Given the description of an element on the screen output the (x, y) to click on. 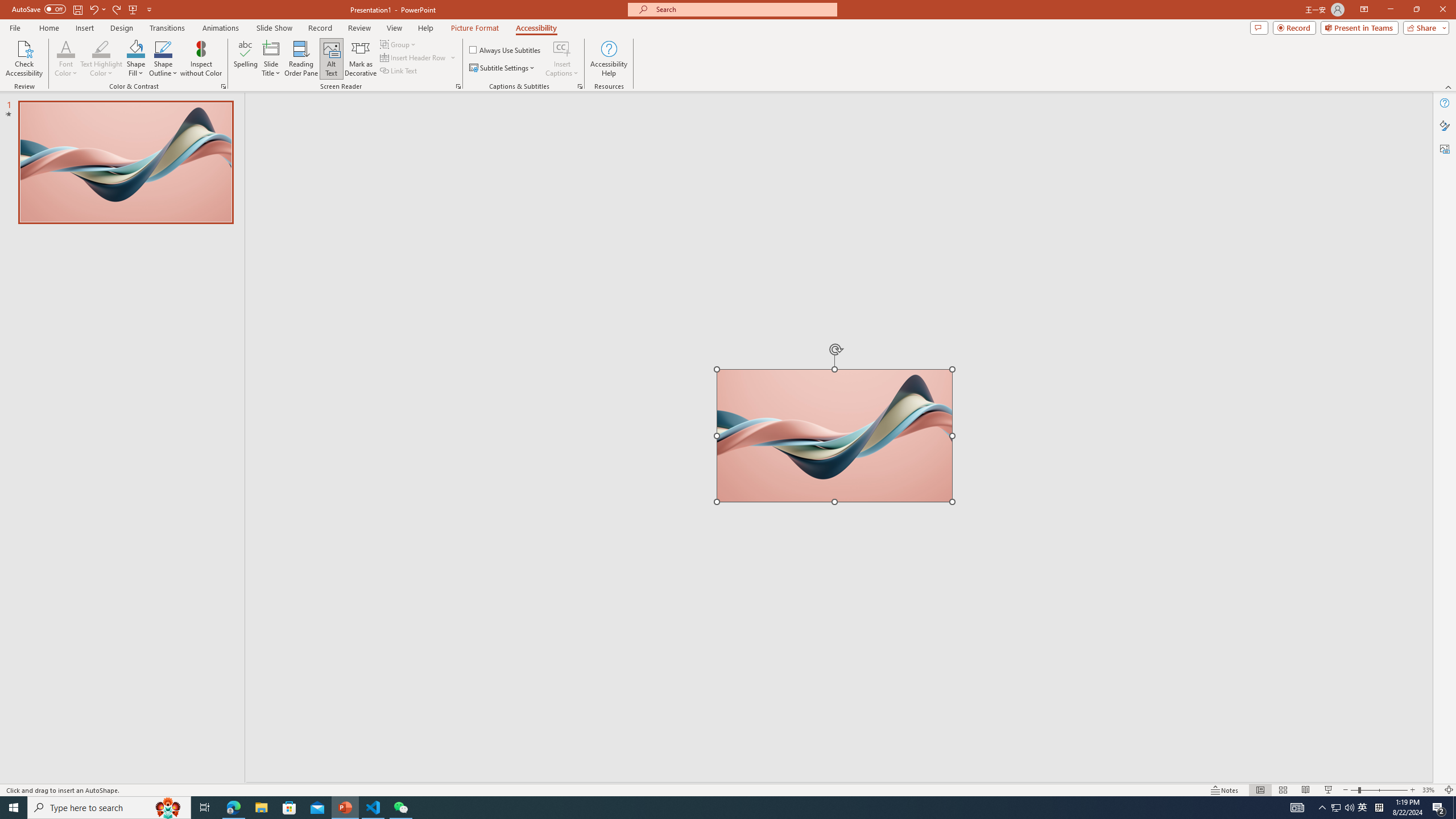
Reading Order Pane (301, 58)
